Given the description of an element on the screen output the (x, y) to click on. 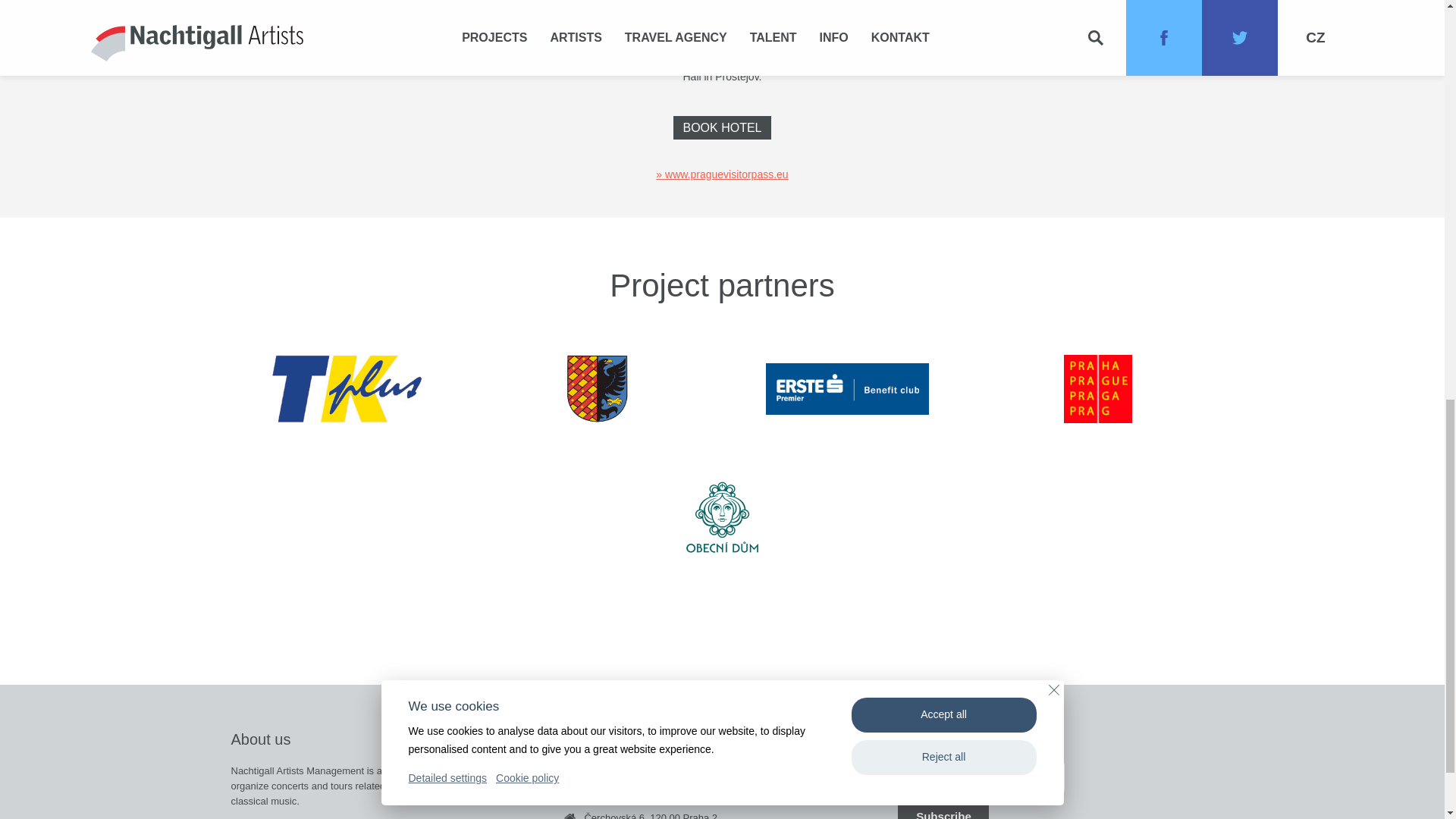
BOOK HOTEL (721, 127)
Benefit klub ERSTE Premier (846, 388)
TK Plus (346, 388)
